Given the description of an element on the screen output the (x, y) to click on. 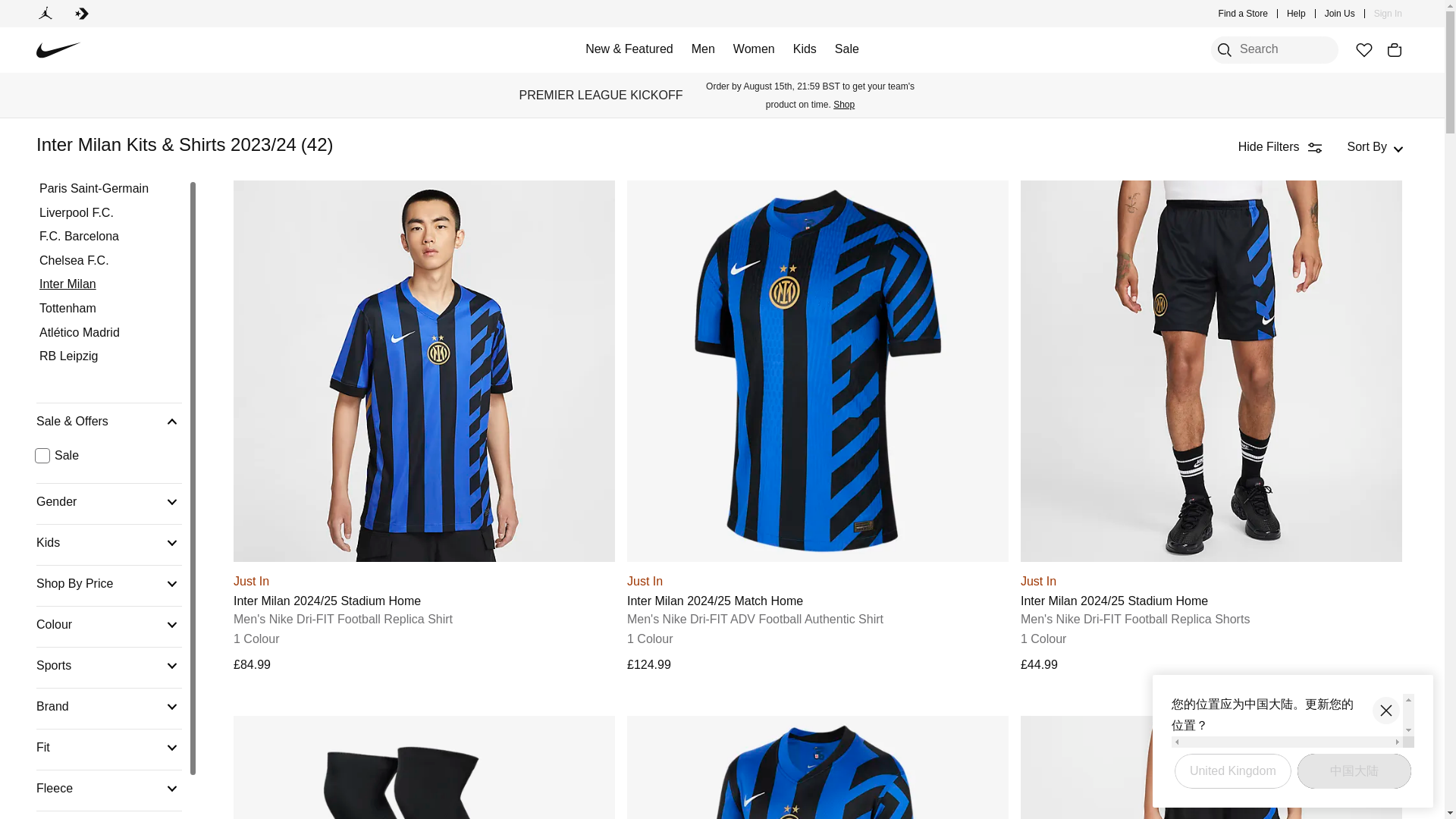
Sign In (1388, 13)
Favourites (1364, 49)
Bag Items: 0 (1393, 49)
Help (1296, 13)
Find a Store (1243, 13)
Join Us (1339, 13)
